Given the description of an element on the screen output the (x, y) to click on. 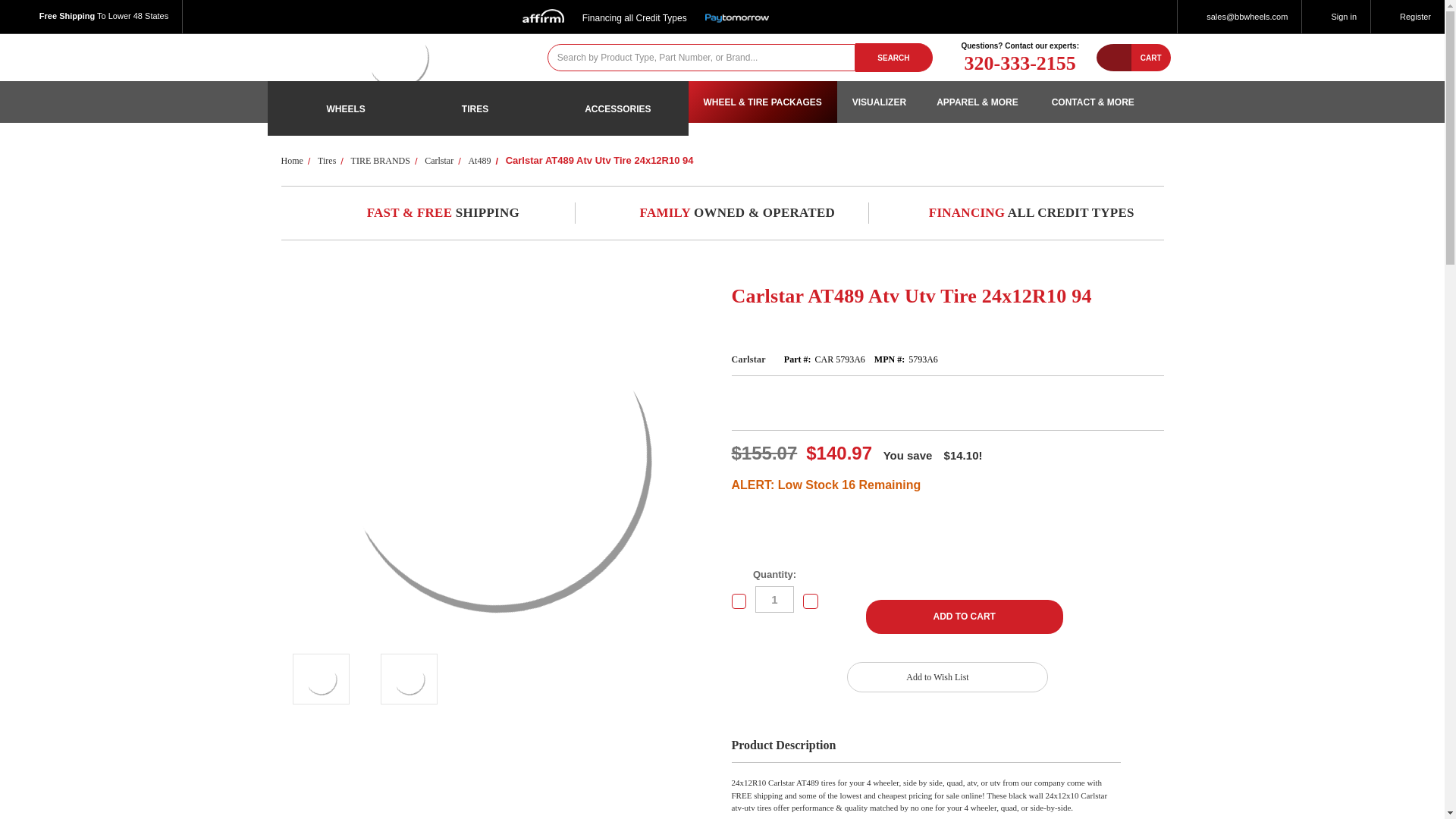
WHEELS (333, 108)
CART (1150, 57)
Search (894, 57)
Add to Cart (964, 616)
320-333-2155 (1019, 63)
1 (774, 599)
Financing all Credit Types (645, 13)
Search (894, 57)
Search (894, 57)
Sign in (1335, 16)
